Given the description of an element on the screen output the (x, y) to click on. 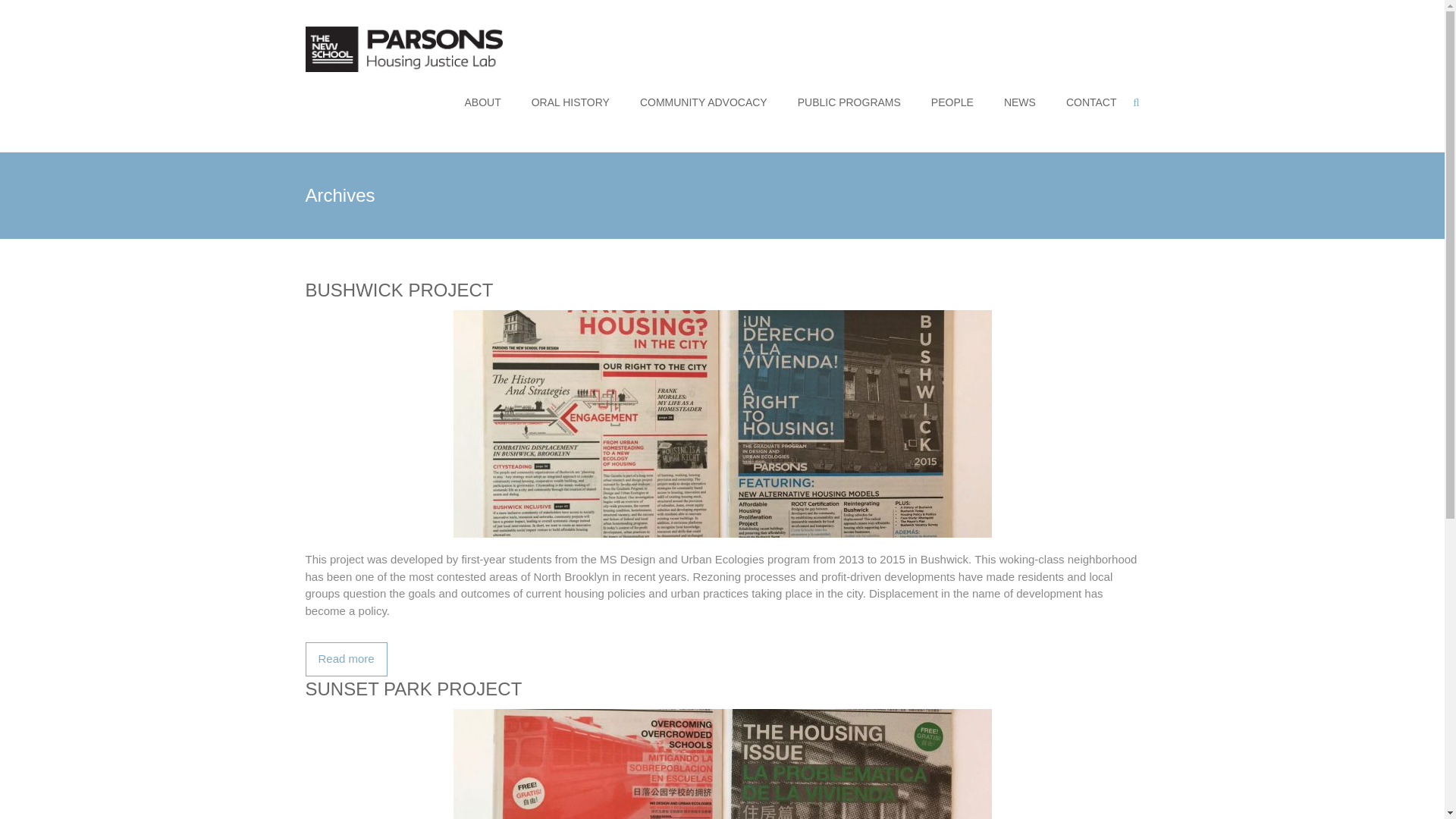
PUBLIC PROGRAMS (849, 102)
BUSHWICK PROJECT (721, 318)
SUNSET PARK PROJECT (721, 688)
COMMUNITY ADVOCACY (703, 102)
BUSHWICK PROJECT (721, 290)
BUSHWICK PROJECT (345, 659)
SUNSET PARK PROJECT (721, 764)
CONTACT (1090, 102)
Read more (345, 659)
